Given the description of an element on the screen output the (x, y) to click on. 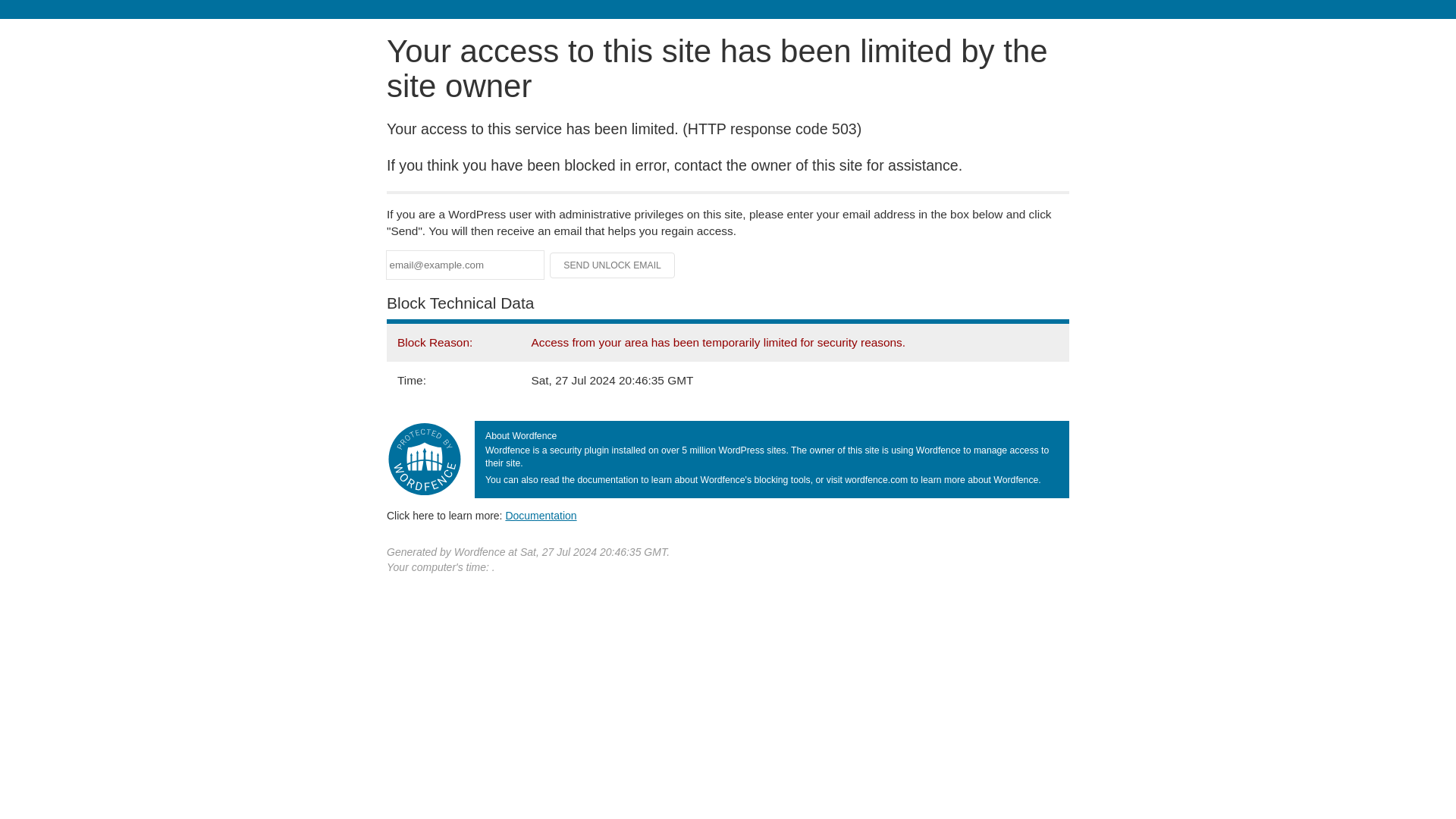
Send Unlock Email (612, 265)
Documentation (540, 515)
Send Unlock Email (612, 265)
